Given the description of an element on the screen output the (x, y) to click on. 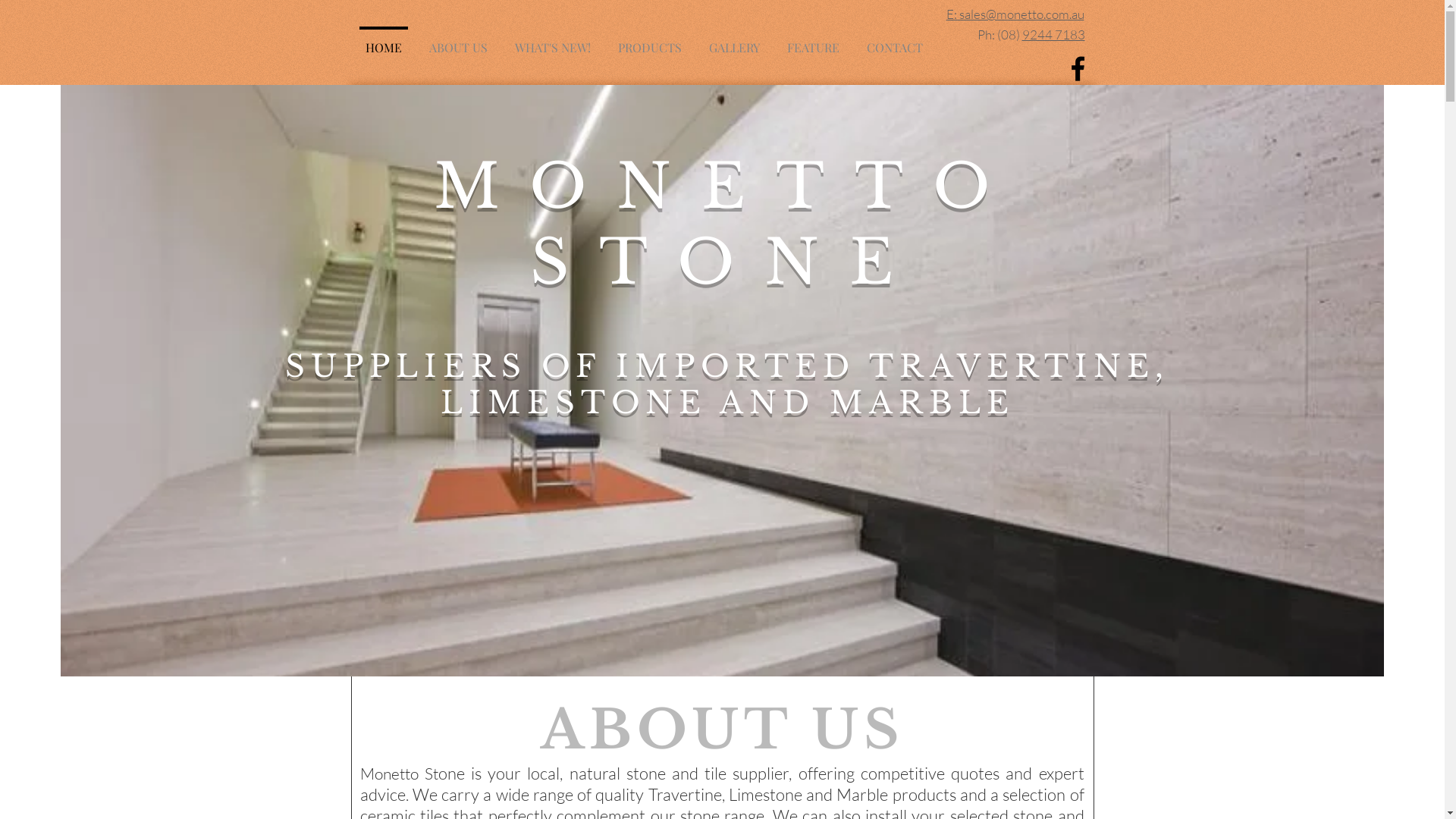
FEATURE Element type: text (813, 40)
WHAT'S NEW! Element type: text (551, 40)
ABOUT US Element type: text (458, 40)
GALLERY Element type: text (733, 40)
PRODUCTS Element type: text (648, 40)
HOME Element type: text (383, 40)
CONTACT Element type: text (893, 40)
E: sales@monetto.com.au Element type: text (1015, 13)
